Given the description of an element on the screen output the (x, y) to click on. 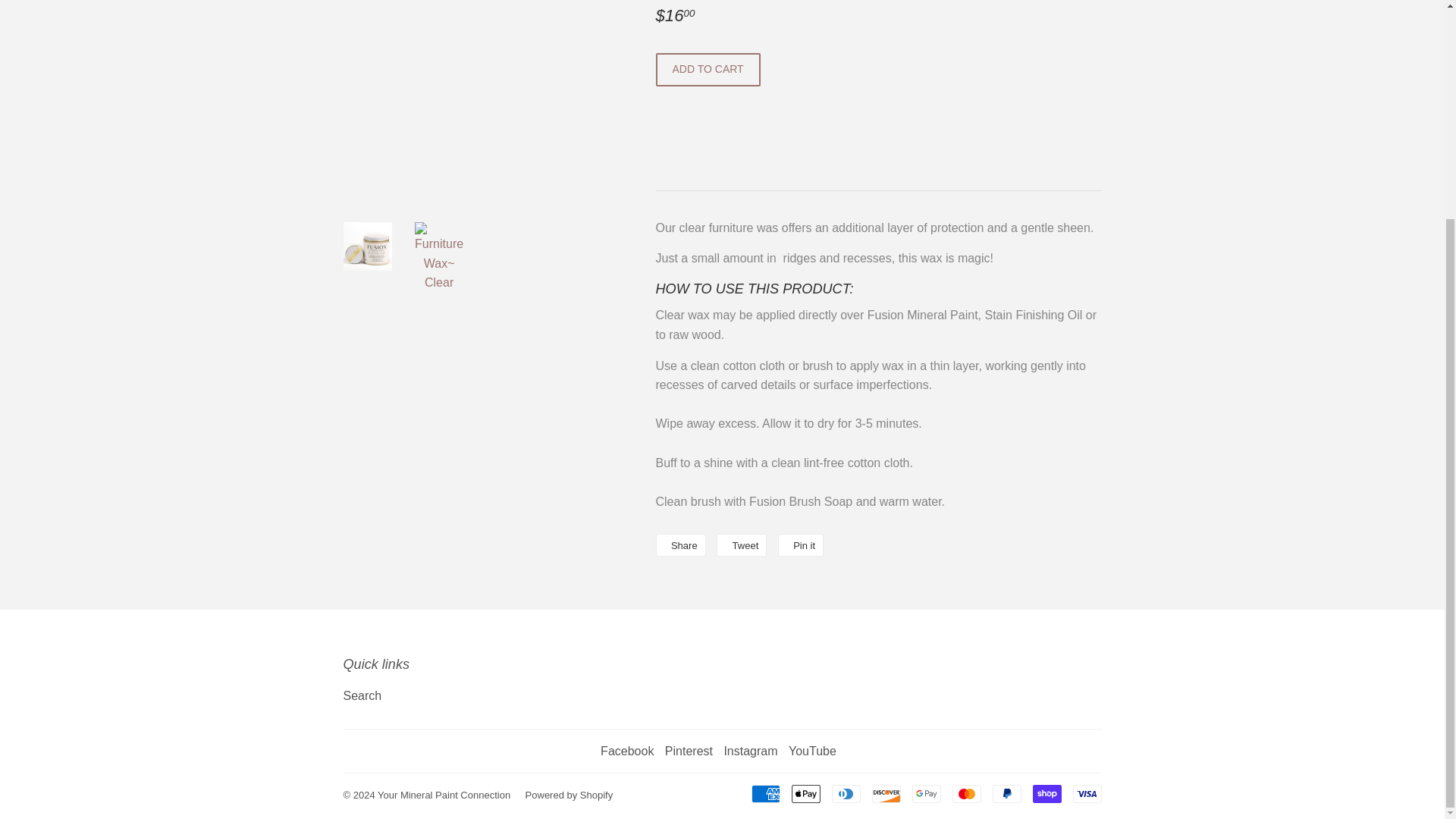
Pin on Pinterest (800, 544)
Diners Club (741, 544)
Your Mineral Paint Connection on Instagram (845, 793)
Discover (750, 750)
Apple Pay (679, 544)
Facebook (886, 793)
Tweet on Twitter (806, 793)
